Given the description of an element on the screen output the (x, y) to click on. 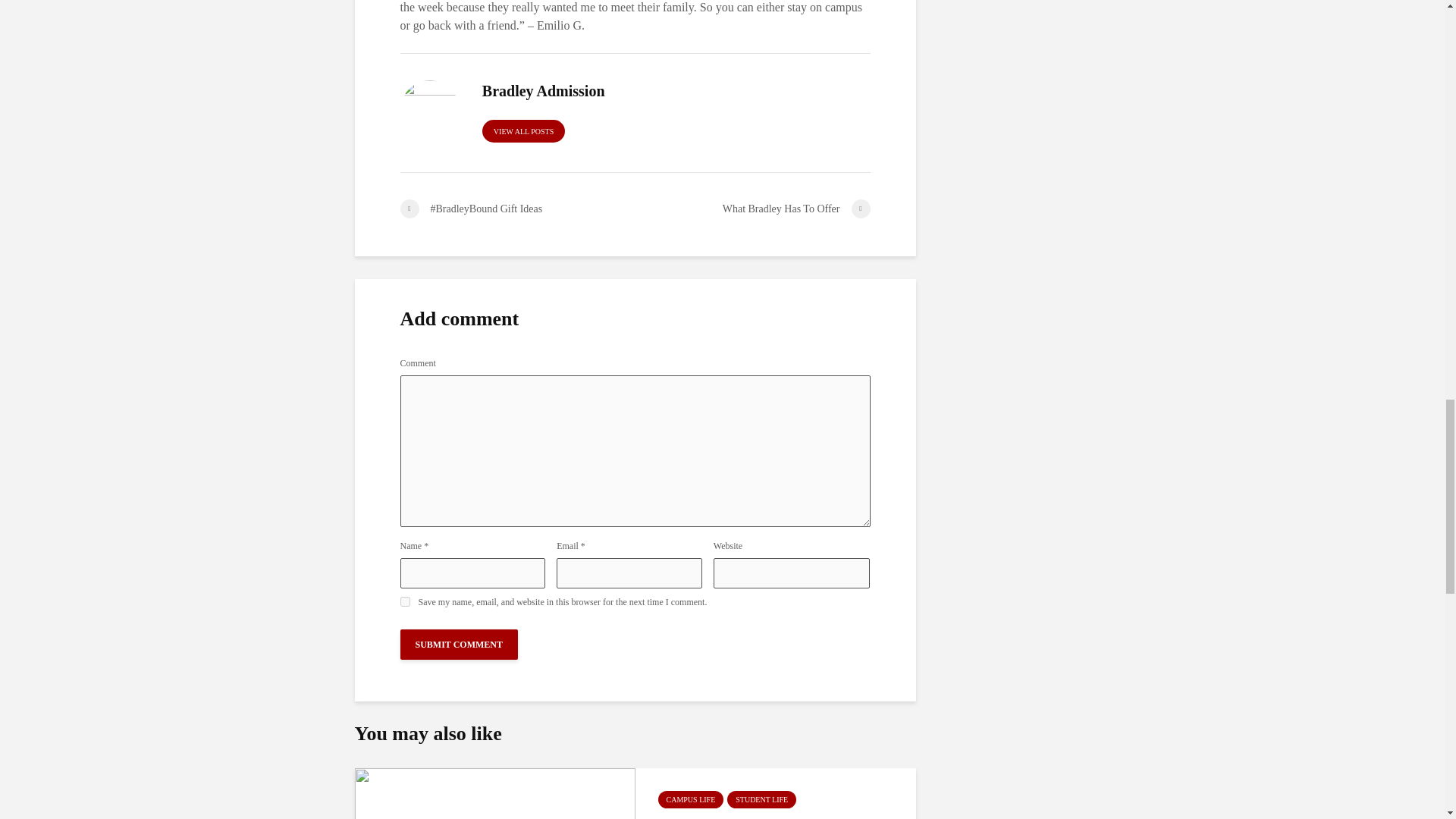
VIEW ALL POSTS (522, 130)
Submit Comment (459, 644)
yes (405, 601)
What Bradley Has To Offer (752, 208)
Submit Comment (459, 644)
